Given the description of an element on the screen output the (x, y) to click on. 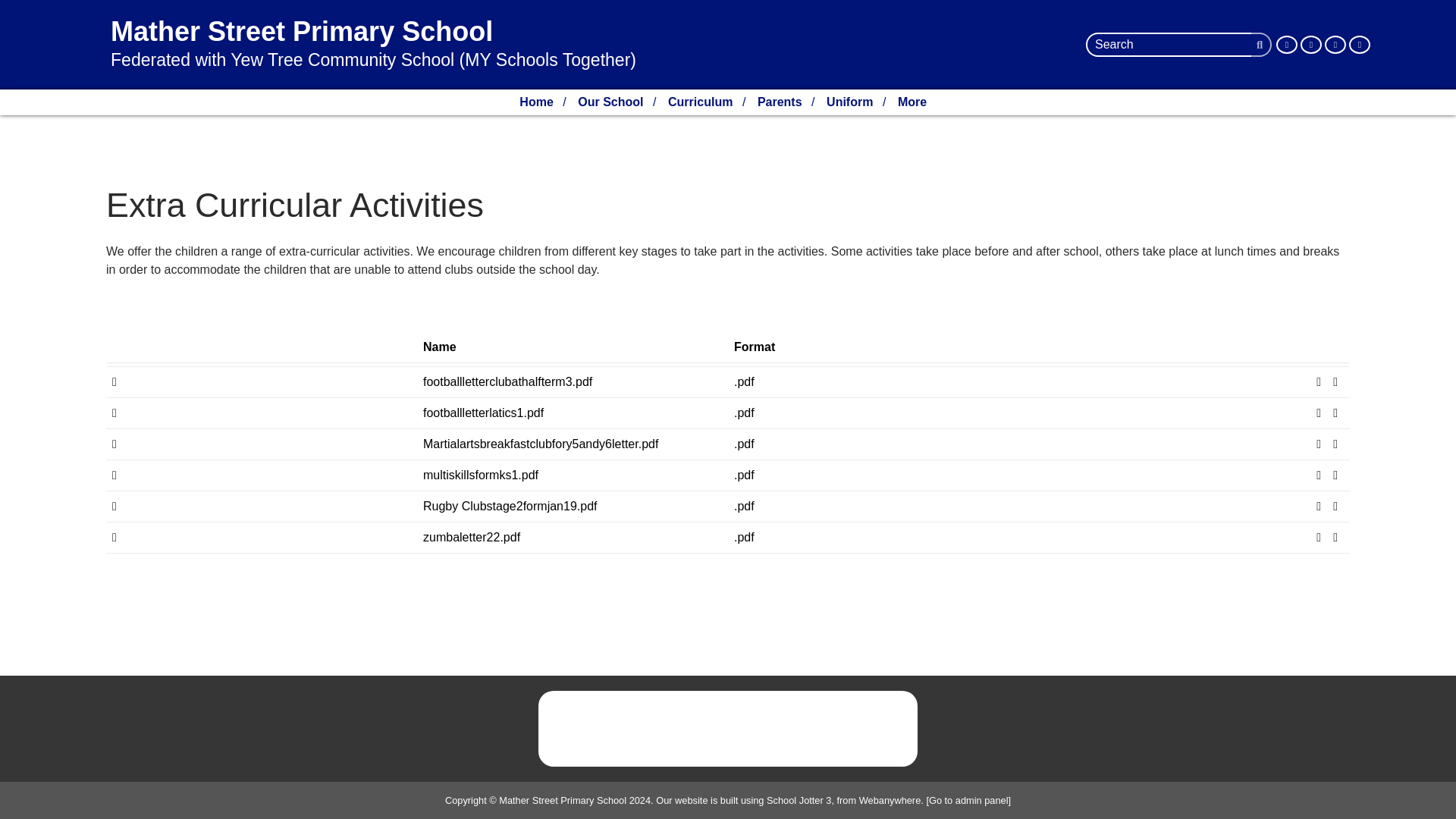
Curriculum (700, 102)
Our School (610, 102)
Parents (779, 102)
Home (536, 102)
